Given the description of an element on the screen output the (x, y) to click on. 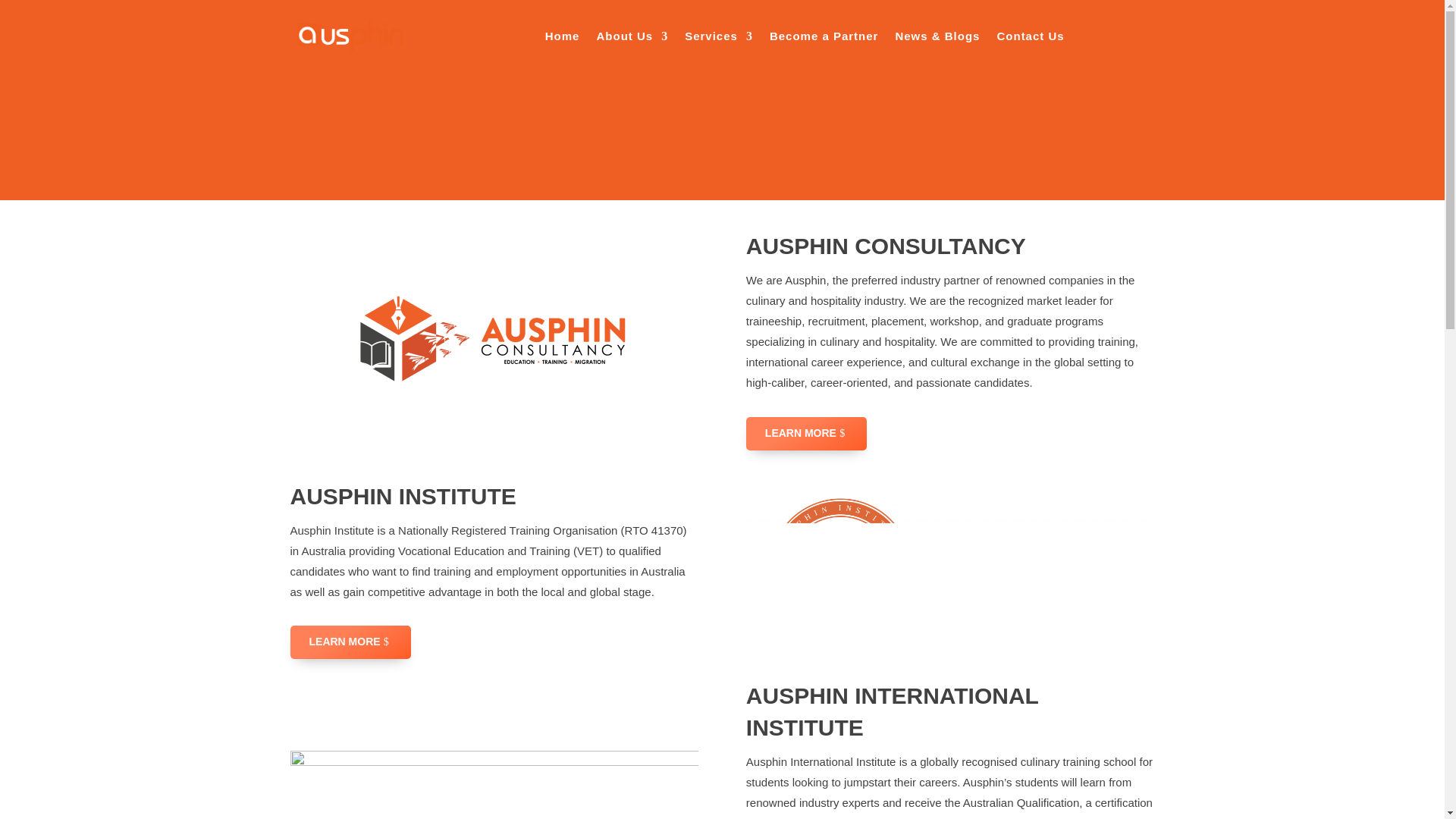
Ausphin-Consultancy-Logo (493, 339)
Services (718, 36)
Ausphin-Institute-Australia-Logo (949, 569)
LEARN MORE (349, 642)
Ausphin-International-Institute-Australia-Logo (493, 785)
Contact Us (1029, 36)
About Us (631, 36)
LEARN MORE (805, 433)
Become a Partner (824, 36)
